Given the description of an element on the screen output the (x, y) to click on. 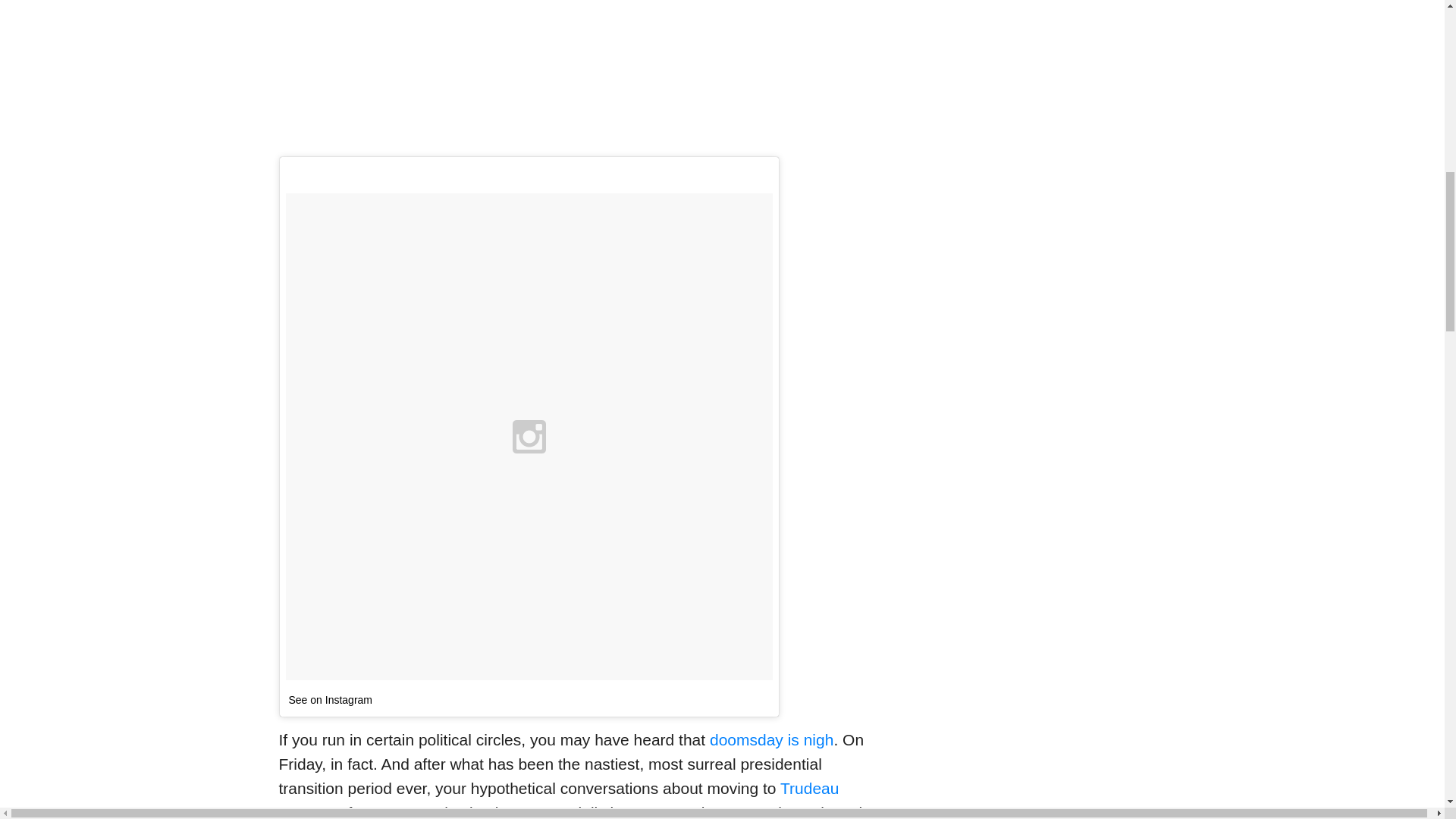
See on Instagram (330, 699)
Trudeau Country (559, 799)
doomsday is nigh (771, 739)
